Given the description of an element on the screen output the (x, y) to click on. 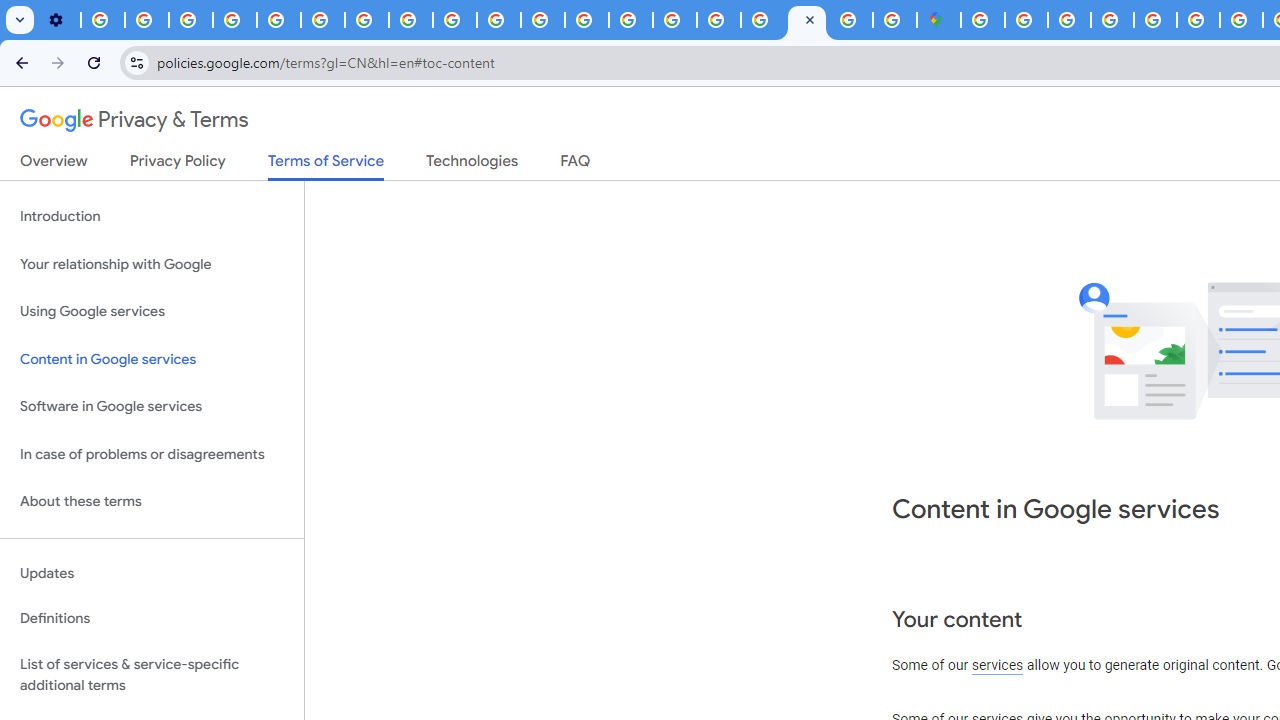
Google Maps (938, 20)
services (997, 666)
Your relationship with Google (152, 263)
https://scholar.google.com/ (542, 20)
Sign in - Google Accounts (1026, 20)
YouTube (322, 20)
Privacy Help Center - Policies Help (586, 20)
Using Google services (152, 312)
